Given the description of an element on the screen output the (x, y) to click on. 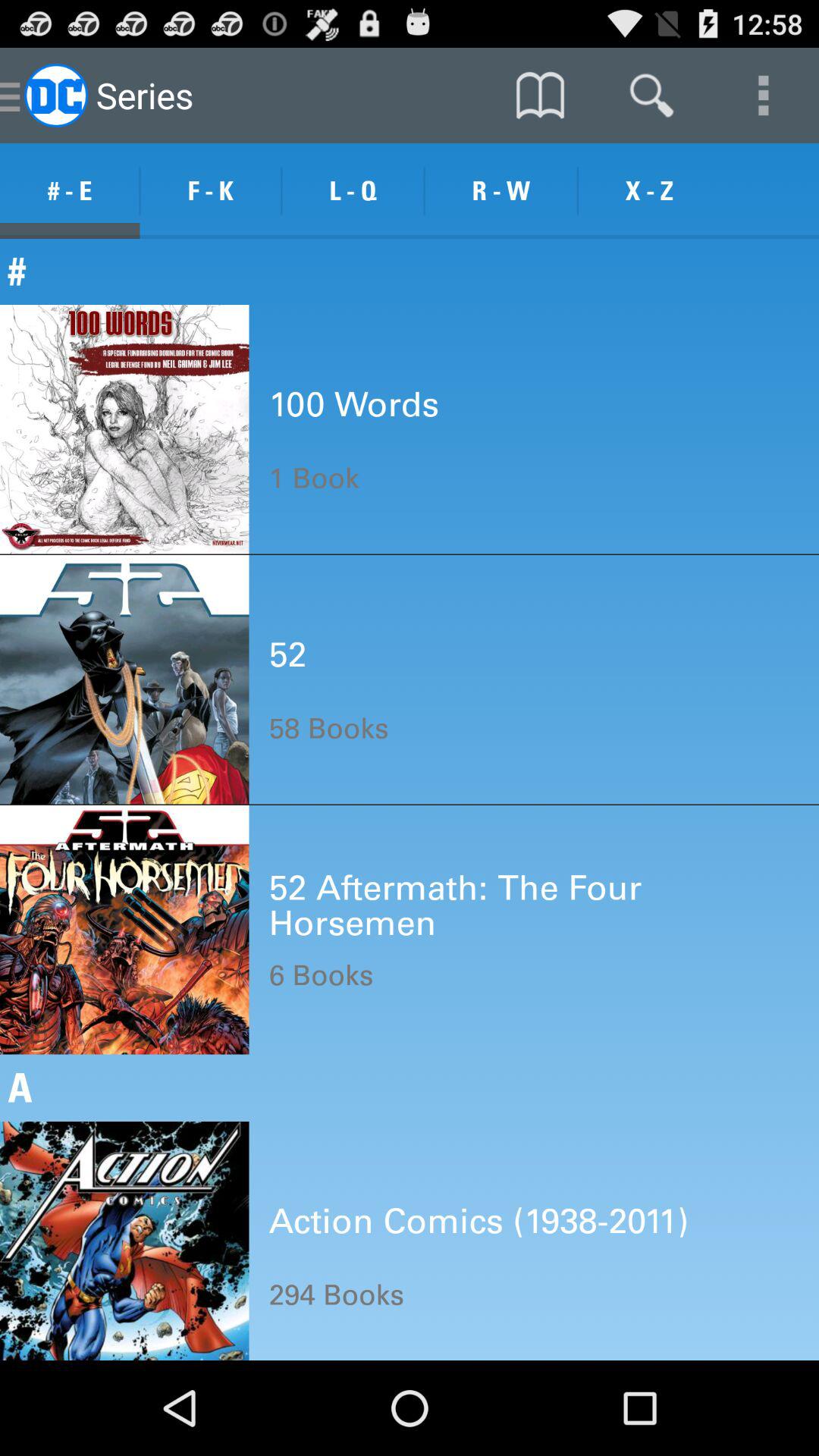
click icon above the x - z item (651, 95)
